Given the description of an element on the screen output the (x, y) to click on. 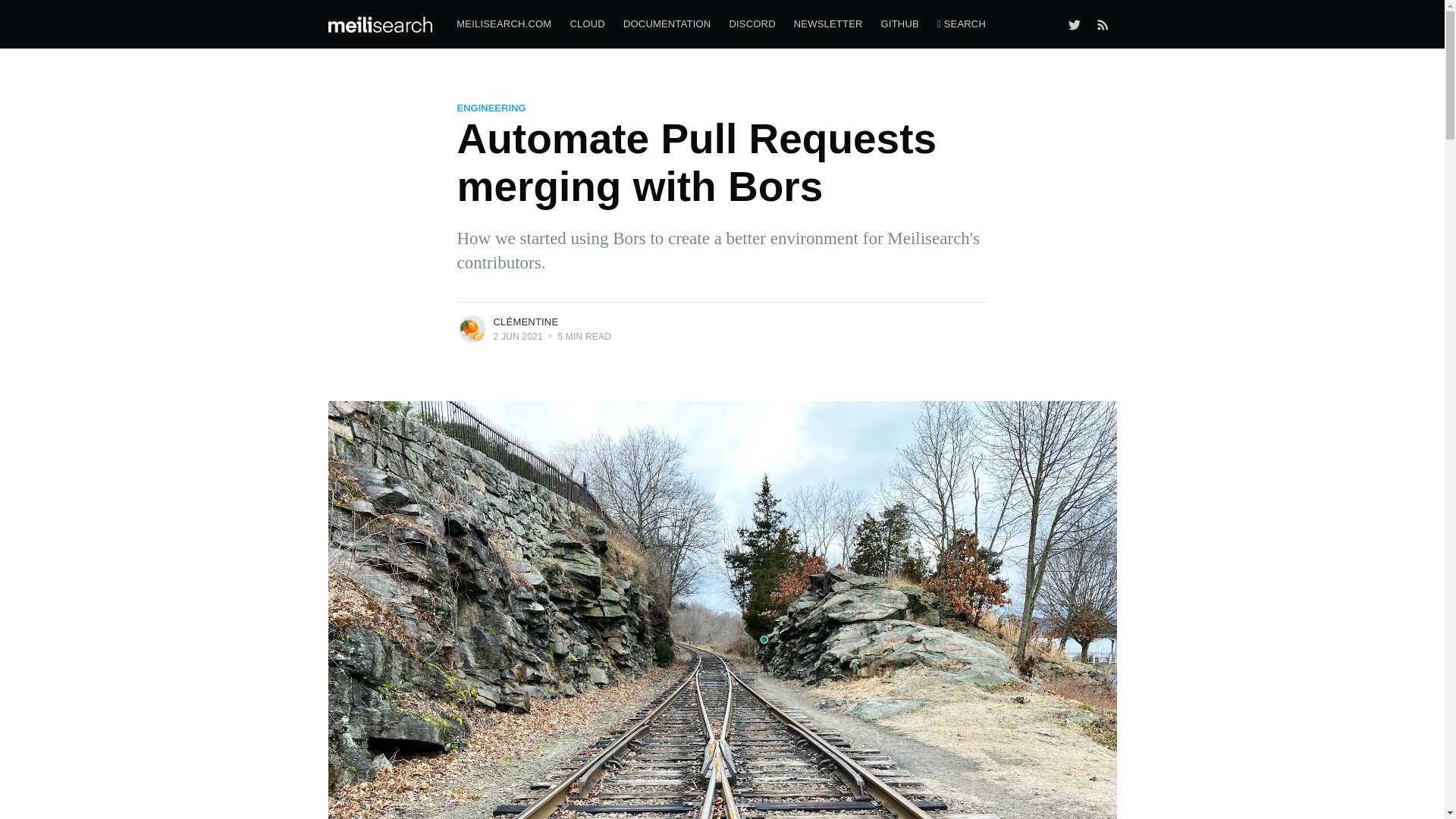
MEILISEARCH.COM (503, 24)
ENGINEERING (491, 108)
GITHUB (900, 24)
DISCORD (751, 24)
DOCUMENTATION (667, 24)
CLOUD (587, 24)
NEWSLETTER (828, 24)
